Given the description of an element on the screen output the (x, y) to click on. 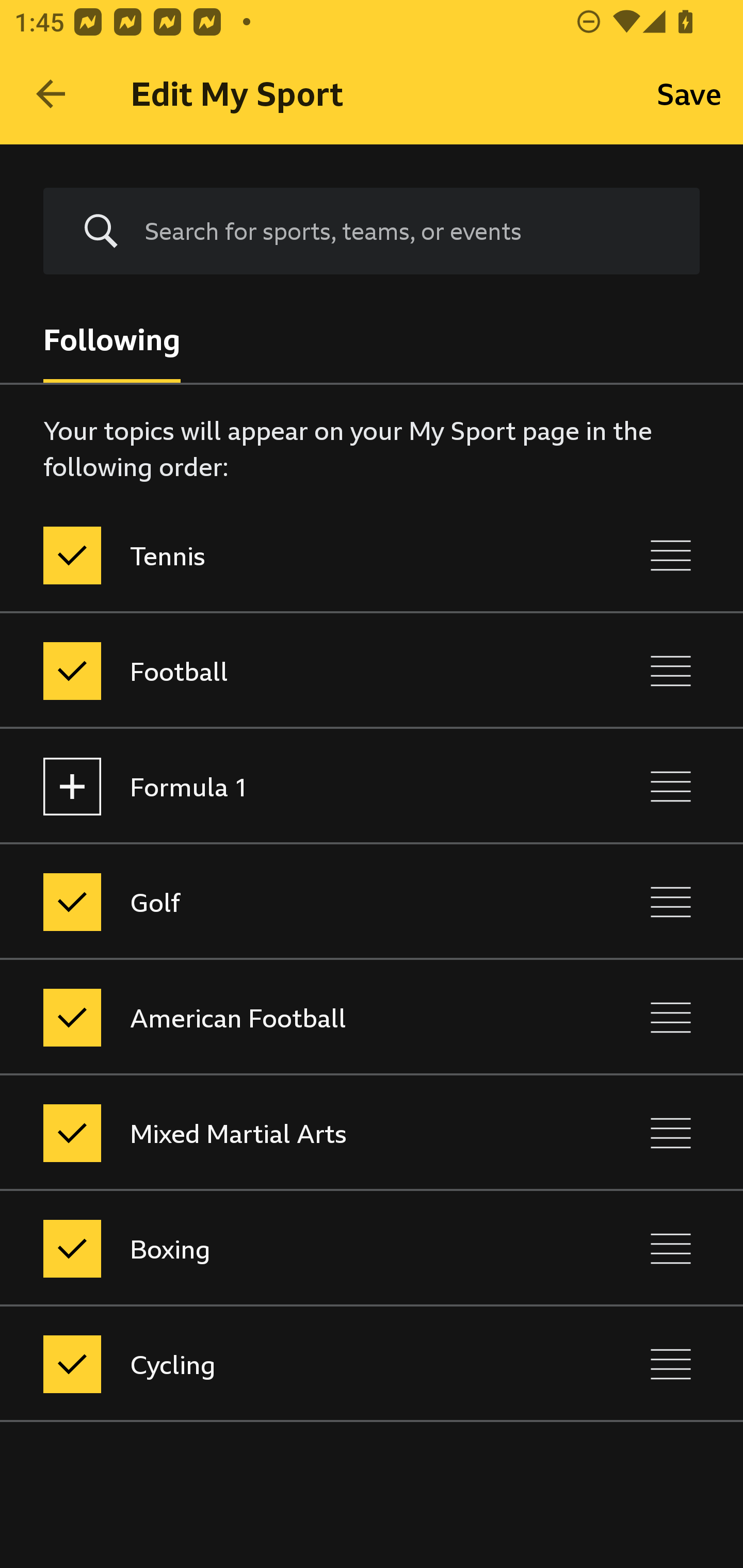
Navigate up (50, 93)
Save (689, 93)
Search for sports, teams, or events (371, 231)
Search for sports, teams, or events (407, 231)
Tennis (284, 555)
Reorder Tennis (670, 555)
Football (284, 671)
Reorder Football (670, 671)
Formula 1 (284, 786)
Reorder Formula 1 (670, 786)
Golf (284, 901)
Reorder Golf (670, 901)
American Football (284, 1017)
Reorder American Football (670, 1017)
Mixed Martial Arts (284, 1133)
Reorder Mixed Martial Arts (670, 1133)
Boxing (284, 1248)
Reorder Boxing (670, 1248)
Cycling (284, 1364)
Reorder Cycling (670, 1364)
